Given the description of an element on the screen output the (x, y) to click on. 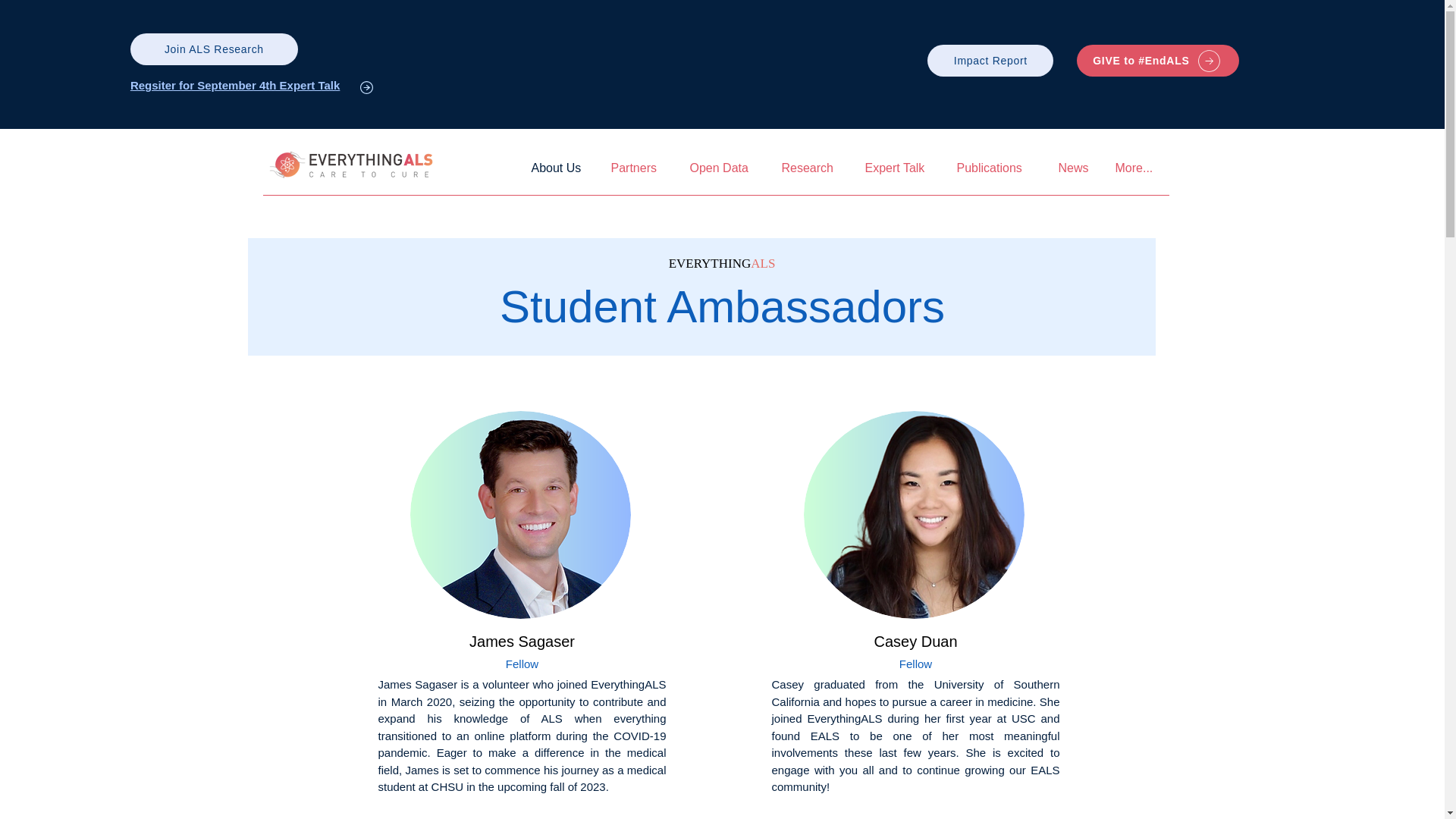
Open Data (724, 168)
News (1074, 168)
Expert Talk (898, 168)
Join ALS Research (214, 49)
Regsiter for September 4th Expert Talk (235, 85)
small logo.png (355, 163)
About Us (559, 168)
Impact Report (989, 60)
Publications (995, 168)
Partners (638, 168)
